Given the description of an element on the screen output the (x, y) to click on. 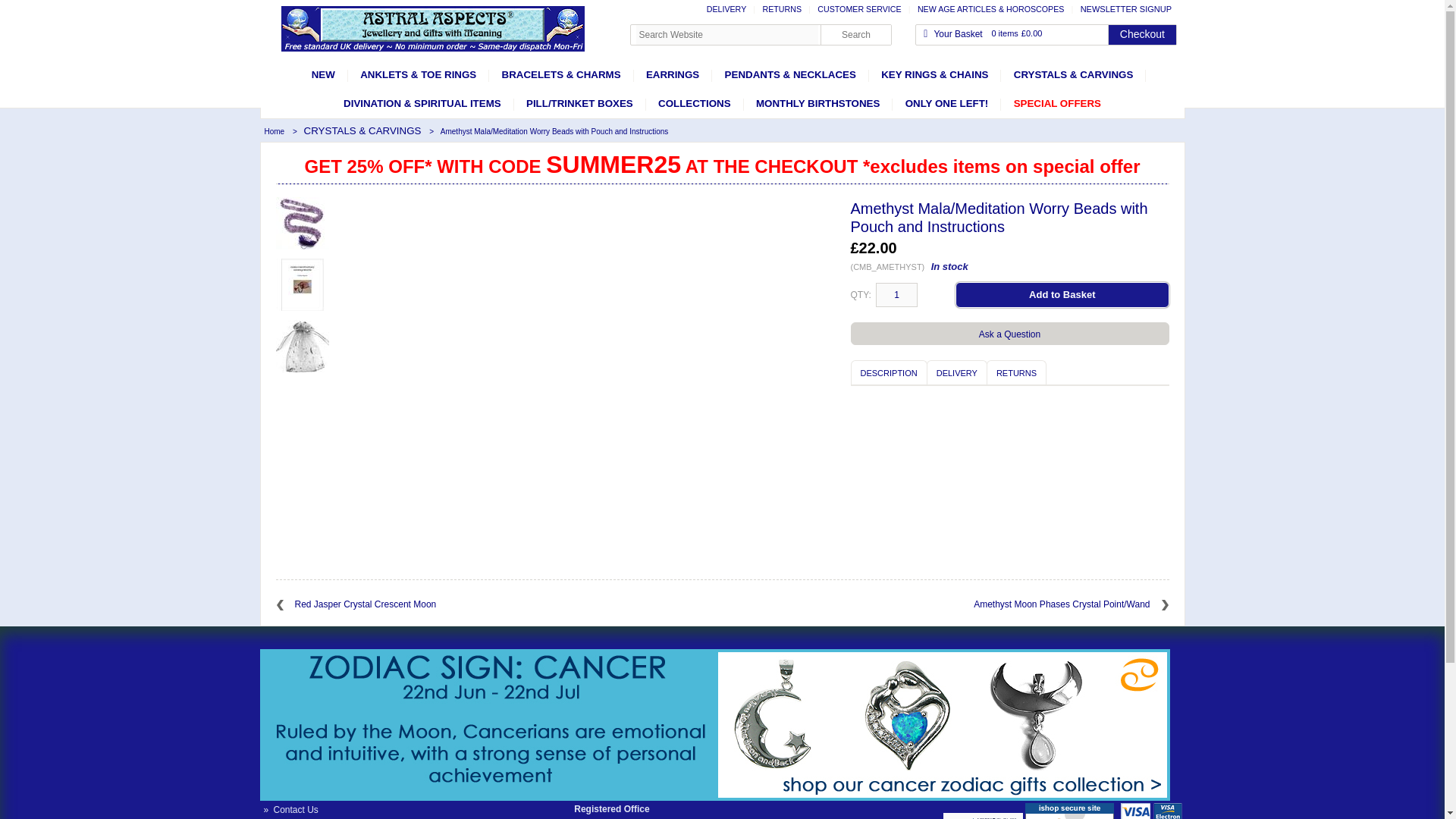
NEW (322, 74)
EARRINGS (672, 74)
Search (855, 35)
Add to Basket (1062, 294)
CUSTOMER SERVICE (861, 8)
COLLECTIONS (694, 103)
Search (855, 35)
Red Jasper Crystal Crescent Moon (490, 604)
RETURNS (784, 8)
RETURNS (1016, 372)
MONTHLY BIRTHSTONES (817, 103)
ONLY ONE LEFT! (946, 103)
Home (275, 131)
